Given the description of an element on the screen output the (x, y) to click on. 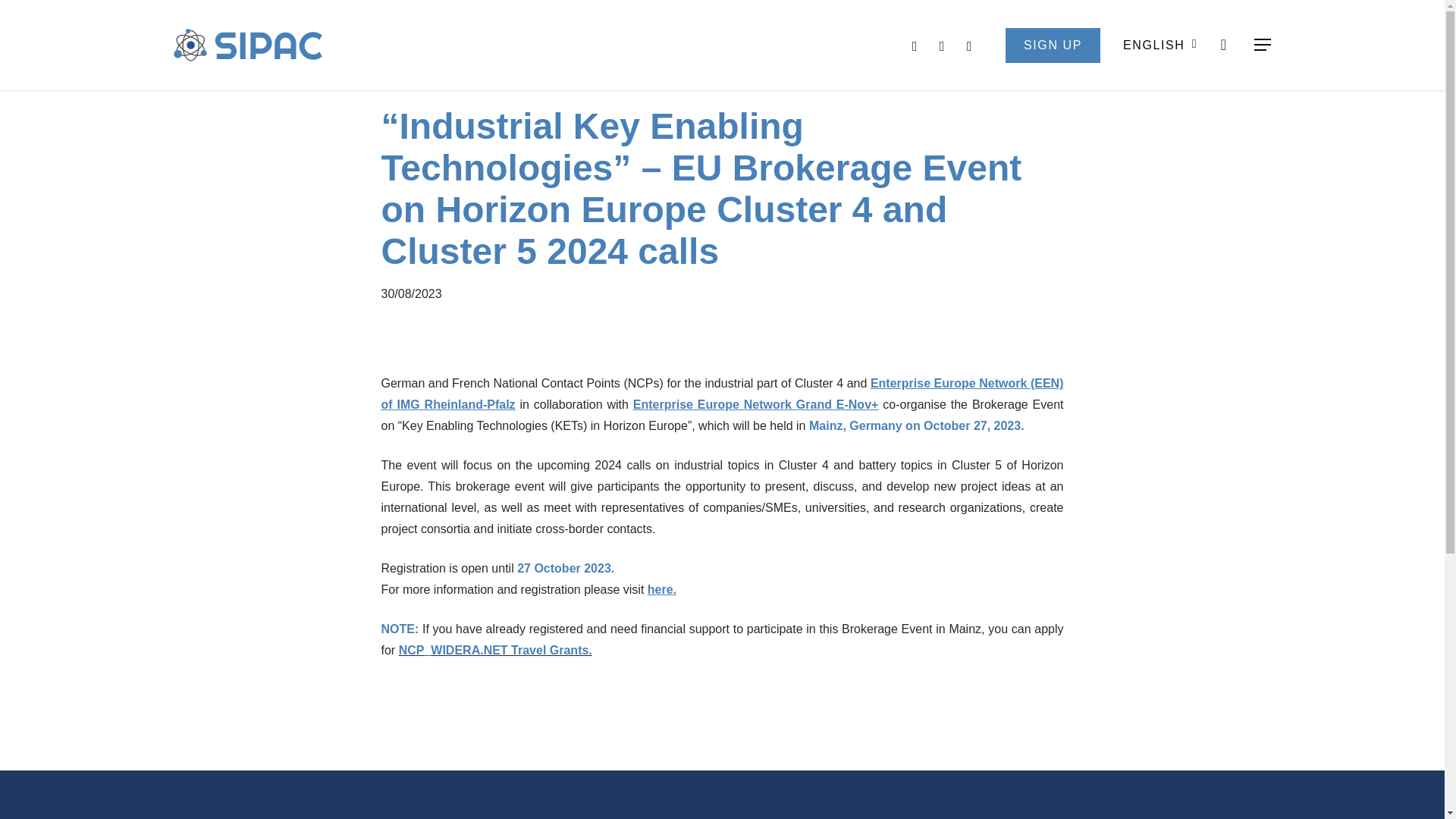
FACEBOOK (942, 45)
LINKEDIN (970, 45)
Menu (1262, 44)
SIGN UP (1053, 44)
ENGLISH (1157, 44)
here. (662, 589)
TWITTER (914, 45)
English (1157, 44)
search (1223, 44)
